Given the description of an element on the screen output the (x, y) to click on. 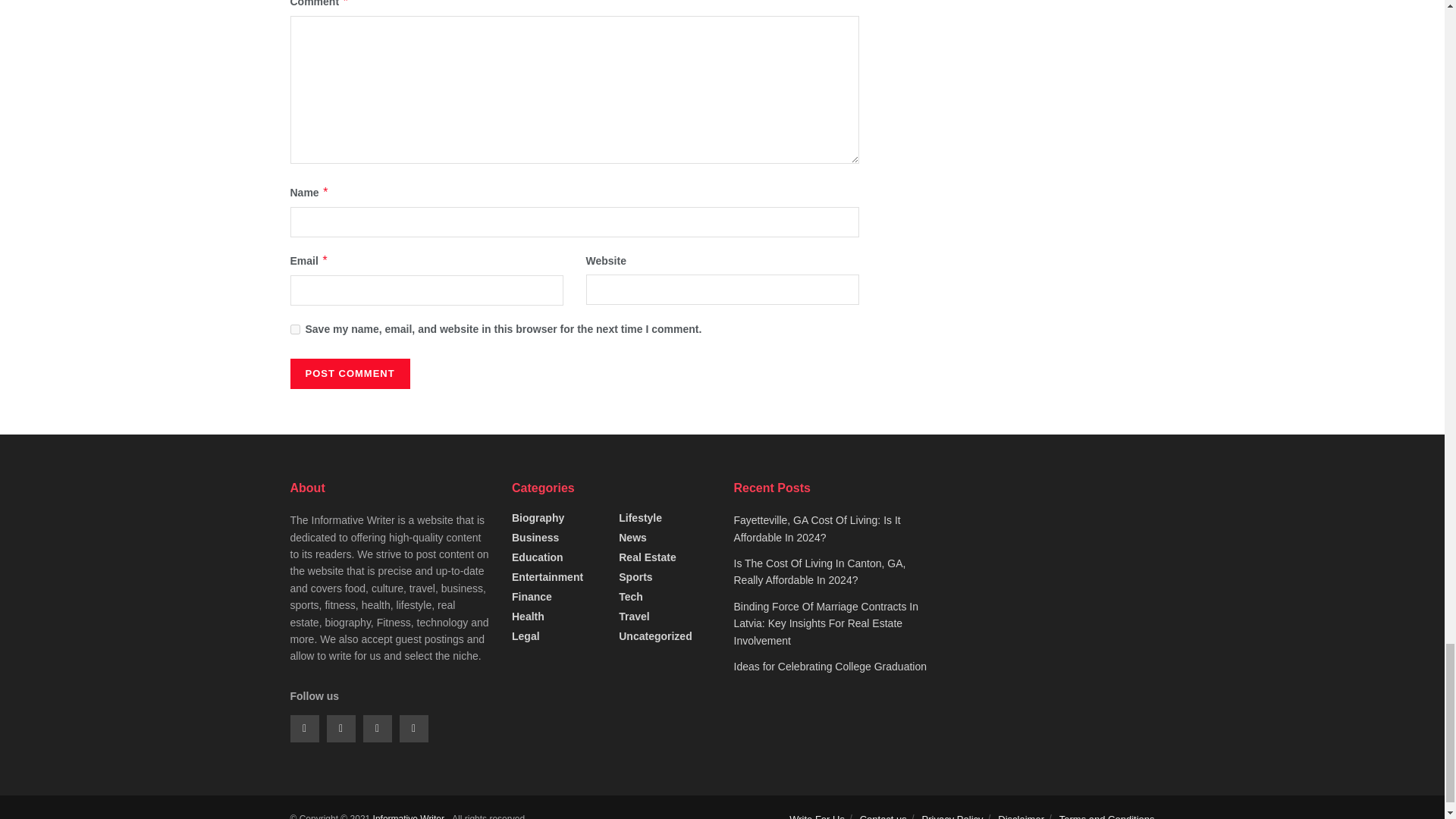
yes (294, 329)
Post Comment (349, 373)
